Given the description of an element on the screen output the (x, y) to click on. 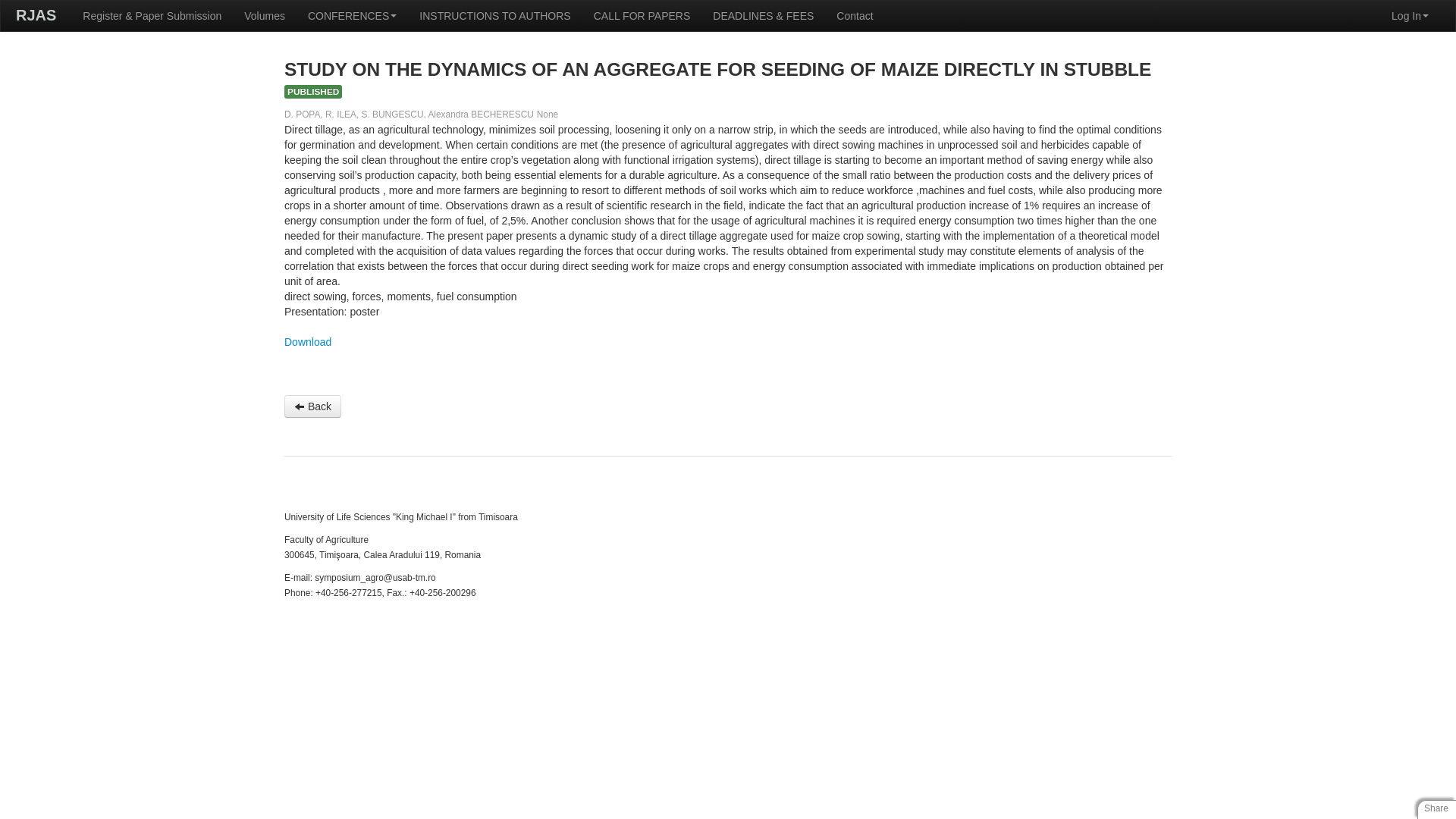
INSTRUCTIONS TO AUTHORS (493, 15)
RJAS (36, 15)
CONFERENCES (352, 15)
Log In (1409, 15)
Volumes (264, 15)
Back (311, 405)
CALL FOR PAPERS (641, 15)
Contact (854, 15)
Download (307, 341)
